Given the description of an element on the screen output the (x, y) to click on. 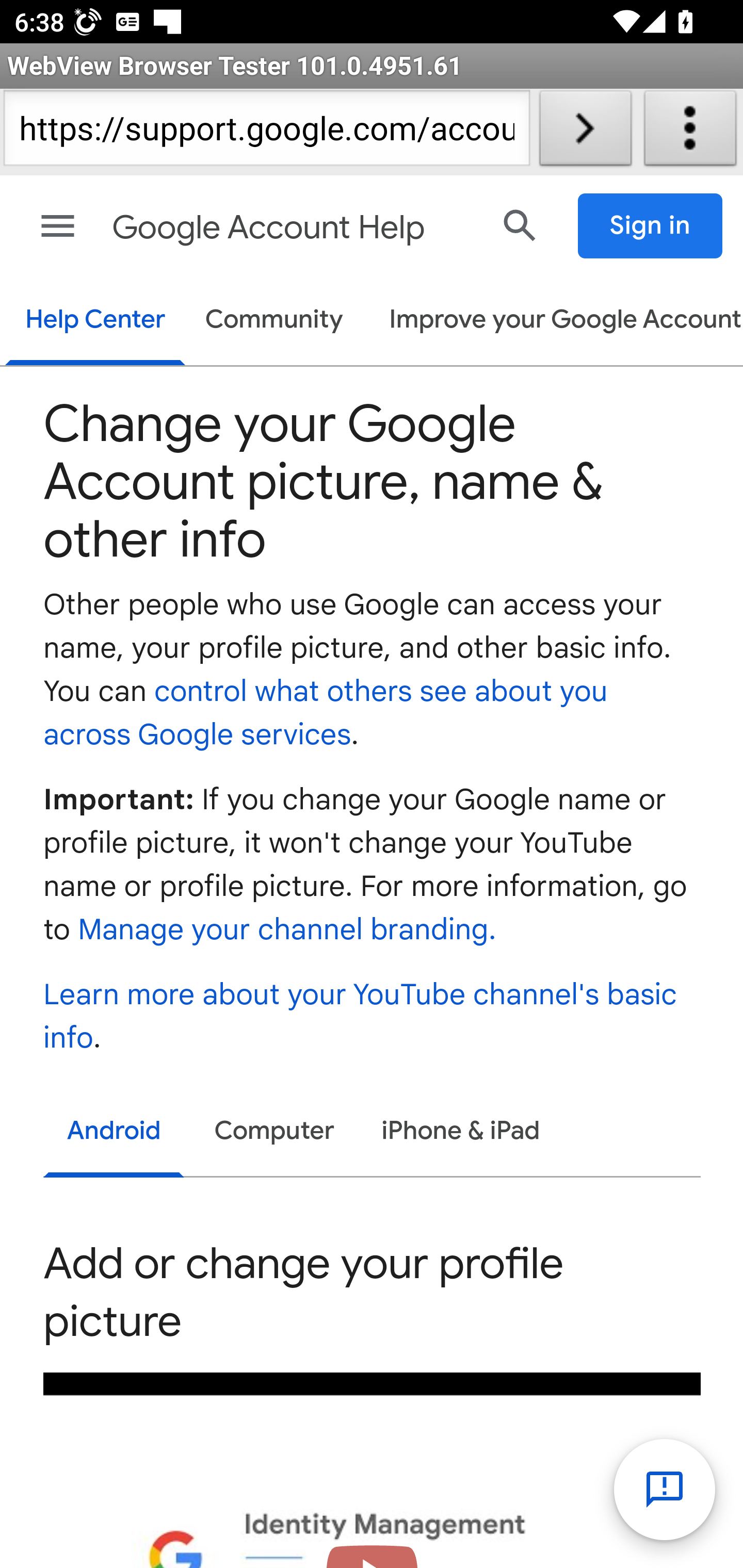
Load URL (585, 132)
About WebView (690, 132)
Main menu (58, 226)
Google Account Help (292, 227)
Search Help Center (519, 225)
Sign in (650, 226)
Help Center (94, 320)
Community (274, 320)
Improve your Google Account (555, 320)
Manage your channel branding. (285, 931)
Learn more about your YouTube channel's basic info (361, 1017)
Android (114, 1133)
Computer (273, 1132)
iPhone & iPad (460, 1132)
